Given the description of an element on the screen output the (x, y) to click on. 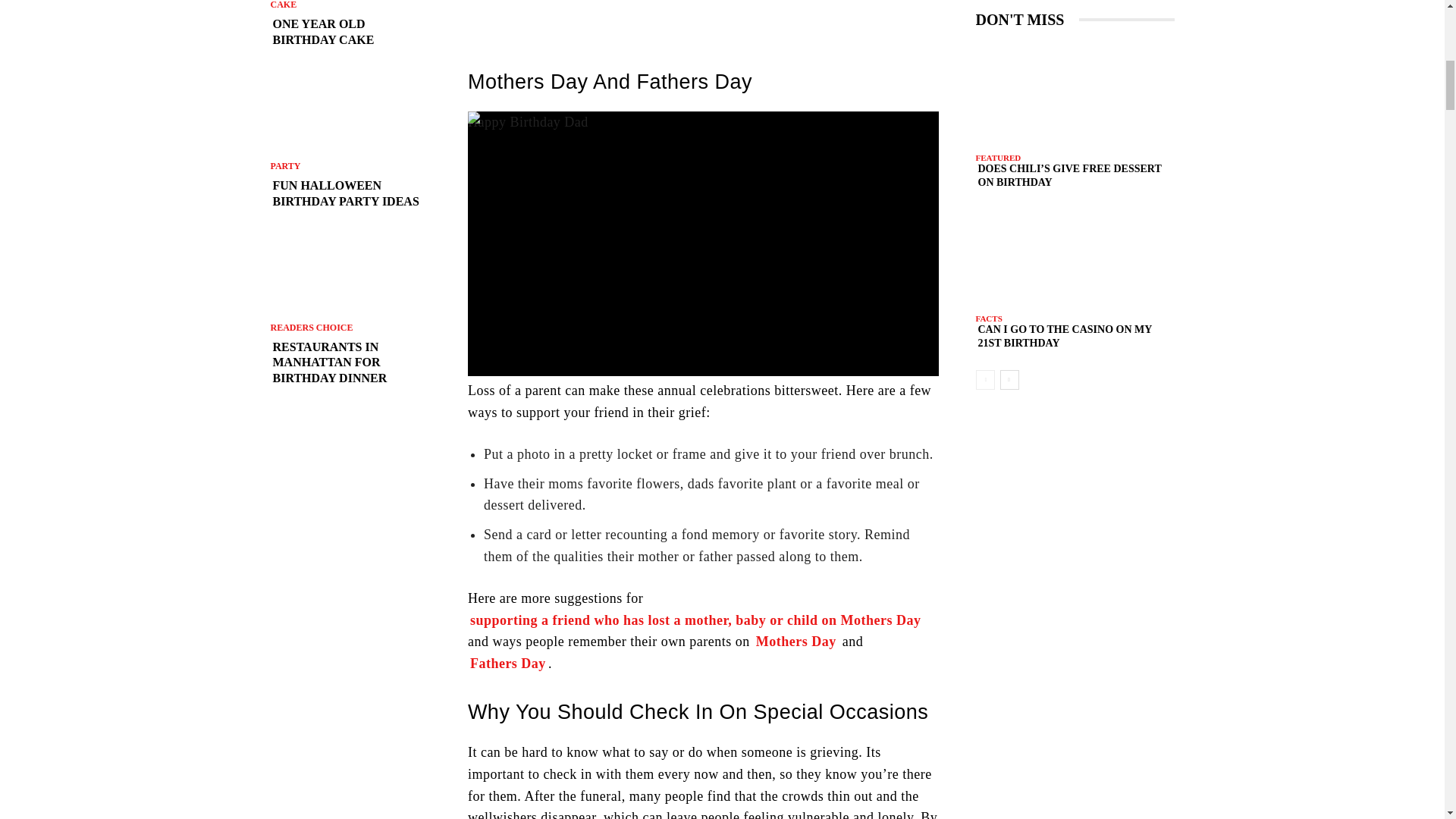
One Year Old Birthday Cake (349, 32)
Fun Halloween Birthday Party Ideas (349, 111)
Fun Halloween Birthday Party Ideas (349, 193)
